Given the description of an element on the screen output the (x, y) to click on. 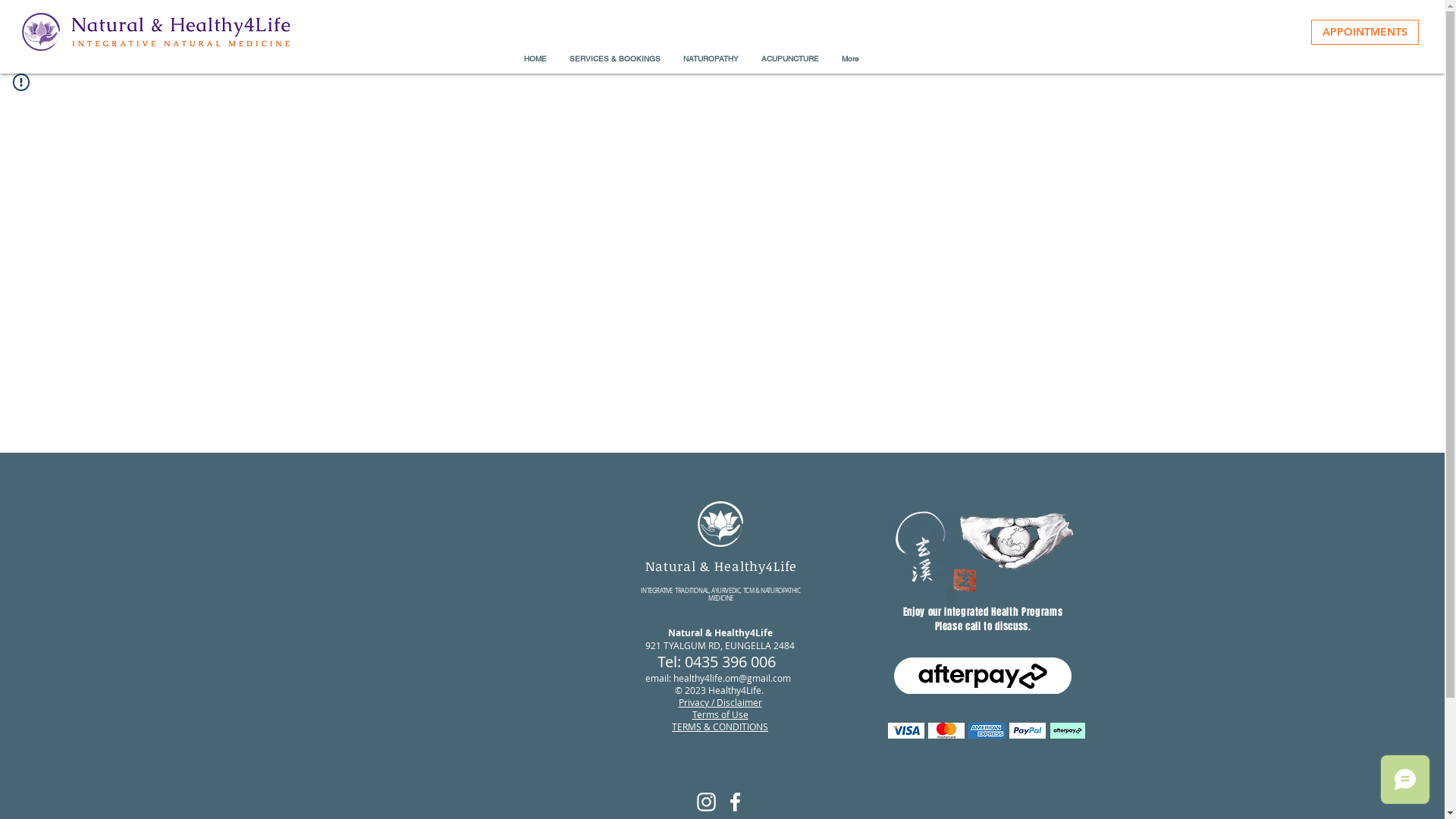
TERMS & CONDITIONS Element type: text (719, 726)
Natural & Healthy4Life Element type: text (721, 565)
Terms of Use Element type: text (719, 714)
SERVICES & BOOKINGS Element type: text (614, 58)
ACUPUNCTURE Element type: text (789, 58)
Privacy / Disclaimer Element type: text (719, 702)
HOME Element type: text (535, 58)
NATUROPATHY Element type: text (710, 58)
APPOINTMENTS Element type: text (1364, 31)
healthy4life.om@gmail.com Element type: text (731, 677)
